Given the description of an element on the screen output the (x, y) to click on. 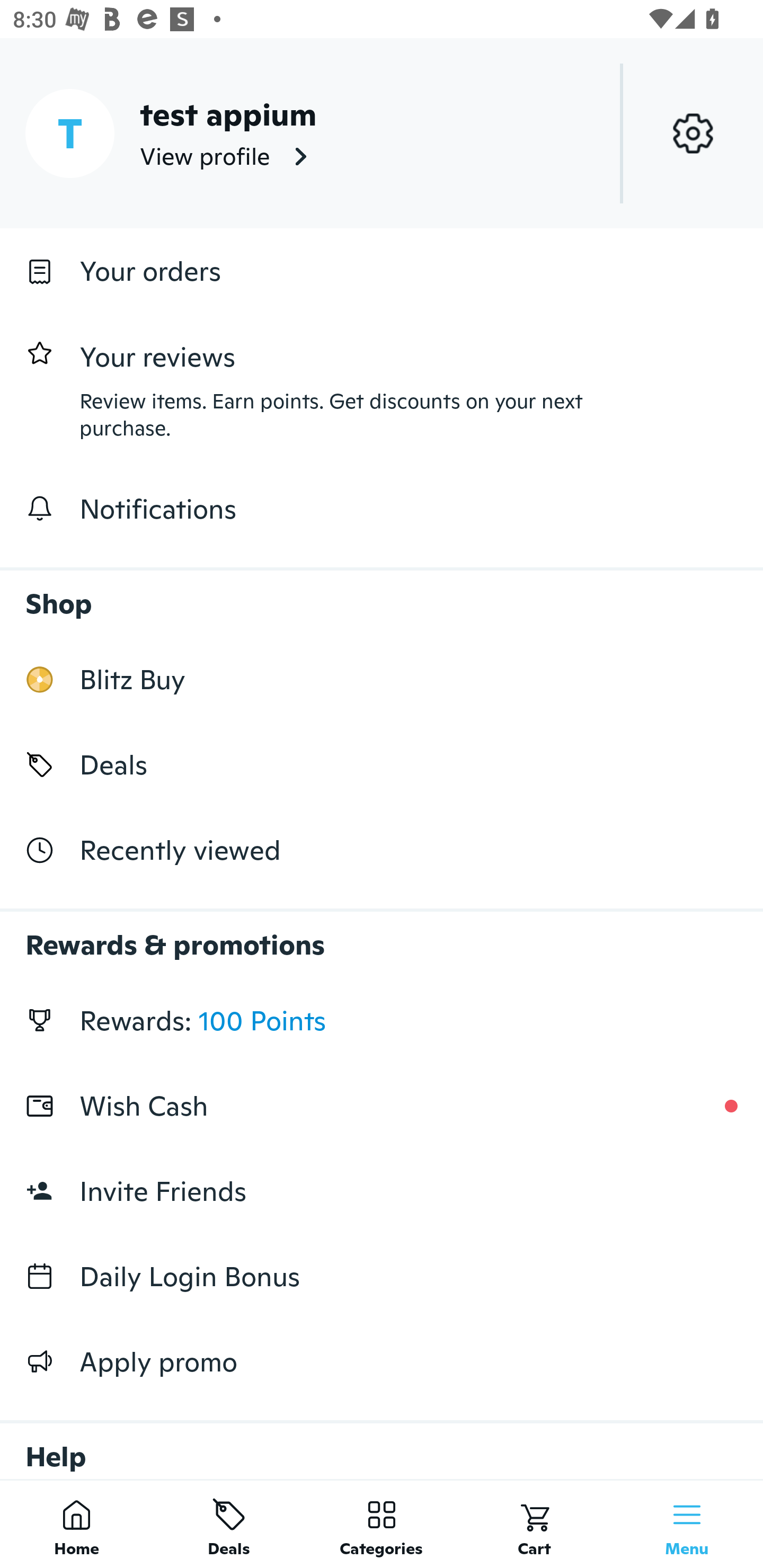
T test appium View profile (381, 132)
Your orders (381, 270)
Notifications (381, 508)
Shop (381, 593)
Blitz Buy (381, 679)
Deals (381, 764)
Recently viewed (381, 850)
Rewards & promotions (381, 935)
Rewards: 100 Points (381, 1020)
Wish Cash (381, 1106)
Invite Friends (381, 1190)
Daily Login Bonus (381, 1277)
Apply promo (381, 1361)
Help (381, 1441)
Home (76, 1523)
Deals (228, 1523)
Categories (381, 1523)
Cart (533, 1523)
Menu (686, 1523)
